Given the description of an element on the screen output the (x, y) to click on. 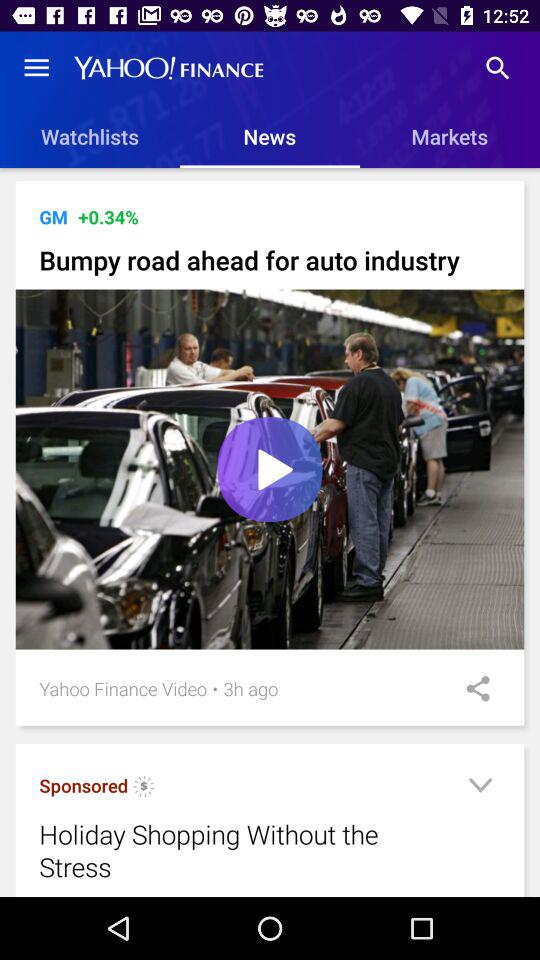
sponsor info (143, 788)
